Given the description of an element on the screen output the (x, y) to click on. 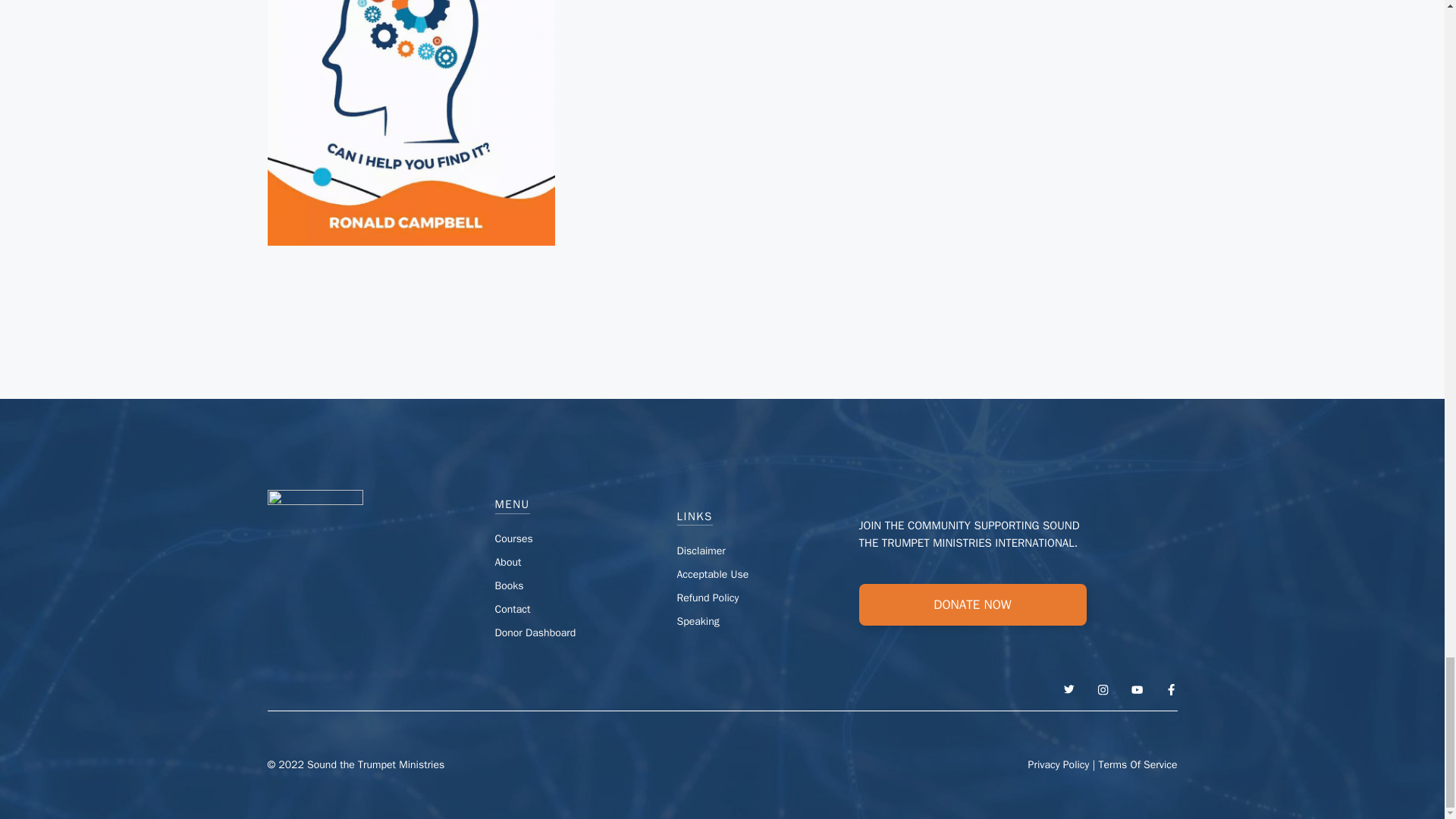
Acceptable Use (712, 574)
Donor Dashboard (535, 632)
Books (508, 585)
Refund Policy (707, 597)
Courses (513, 538)
Terms Of Service (1136, 764)
About (508, 562)
Disclaimer (701, 550)
Contact (512, 608)
DONATE NOW (972, 604)
